Given the description of an element on the screen output the (x, y) to click on. 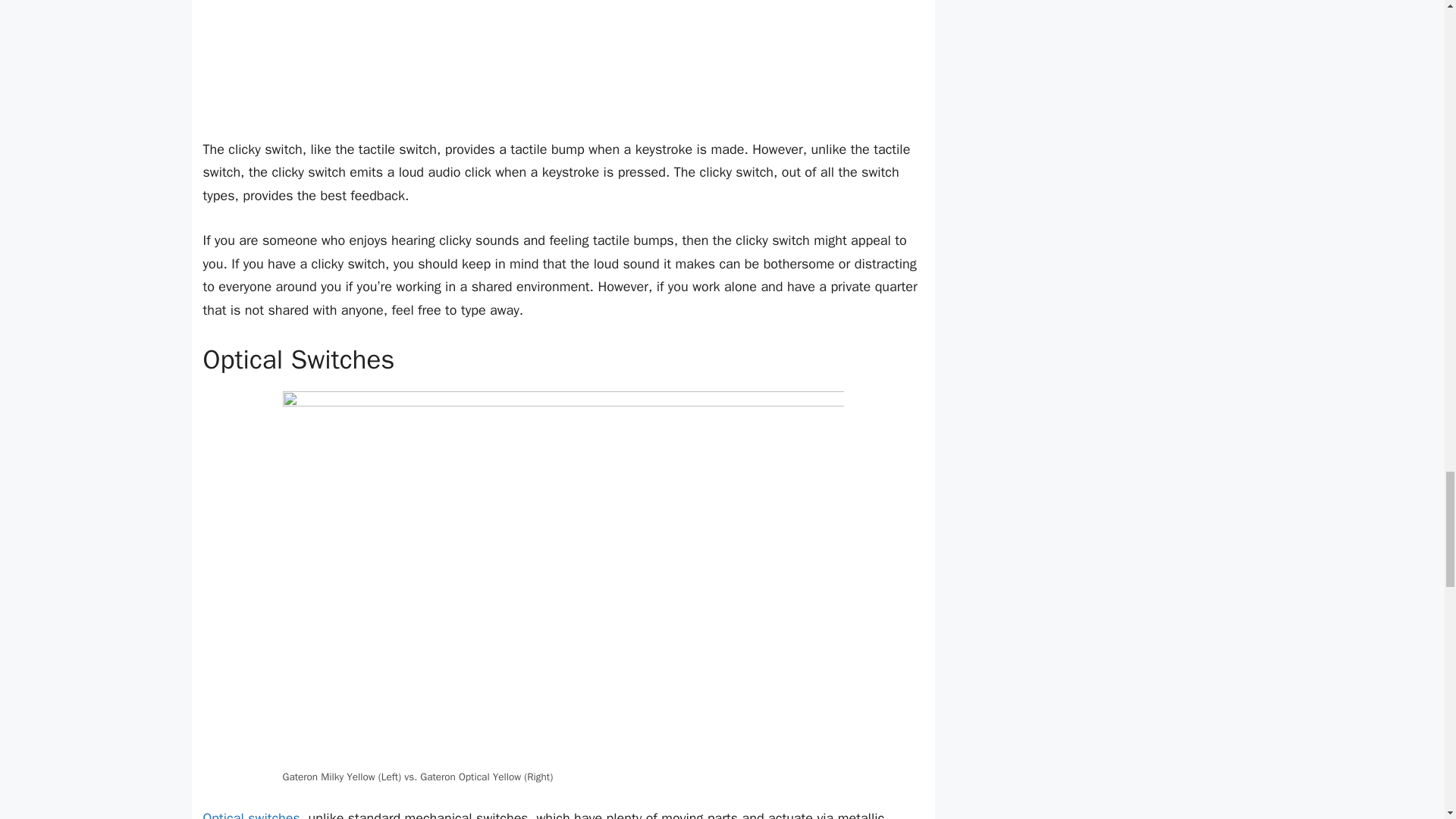
Optical switches, (253, 814)
